Given the description of an element on the screen output the (x, y) to click on. 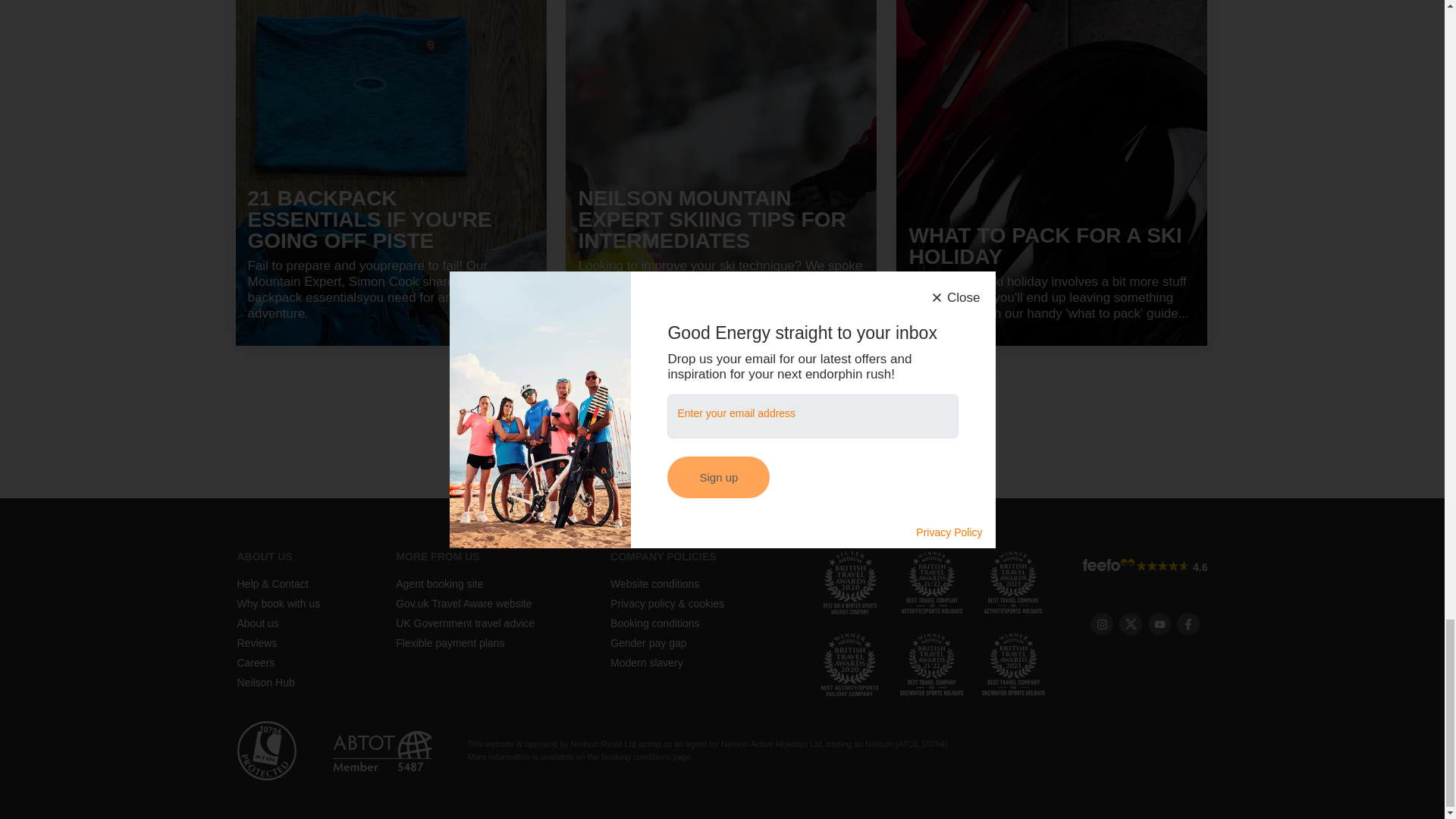
Information about Neilson (263, 556)
The Neilson gender pay gap report (647, 643)
Why book with Neilson (277, 603)
Modern slavery statement (646, 662)
Find Inspirational articles about our holidays (264, 682)
Travel advice from the UK government (465, 623)
Neilson holidays Feefo reviews (255, 643)
Find the answers to what you need or how to contact us (271, 583)
Come and work for us (255, 662)
Useful information to help with your holiday (437, 556)
Details of important Neilson company poilicies (663, 556)
